Given the description of an element on the screen output the (x, y) to click on. 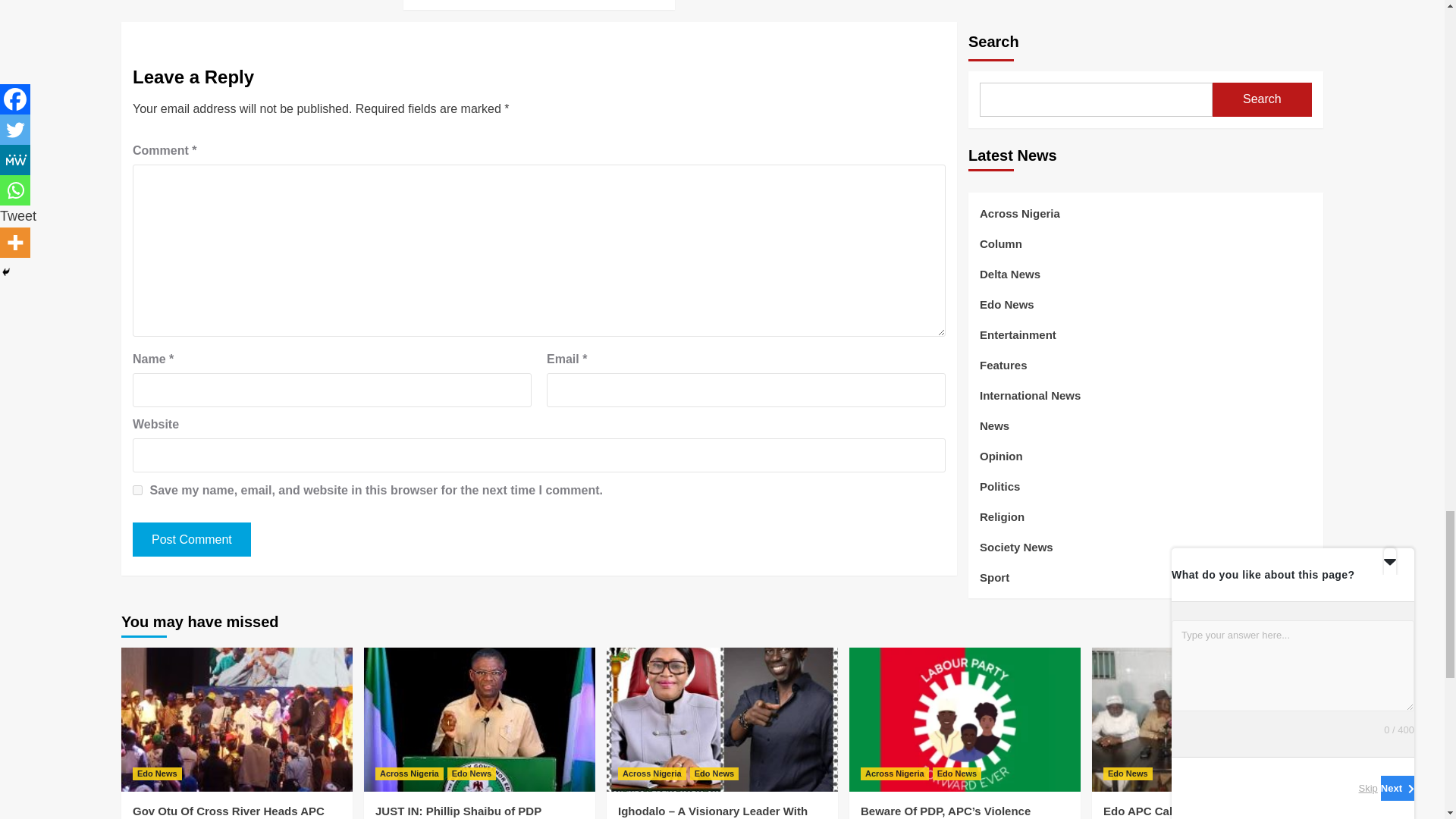
yes (137, 490)
Post Comment (191, 539)
